Given the description of an element on the screen output the (x, y) to click on. 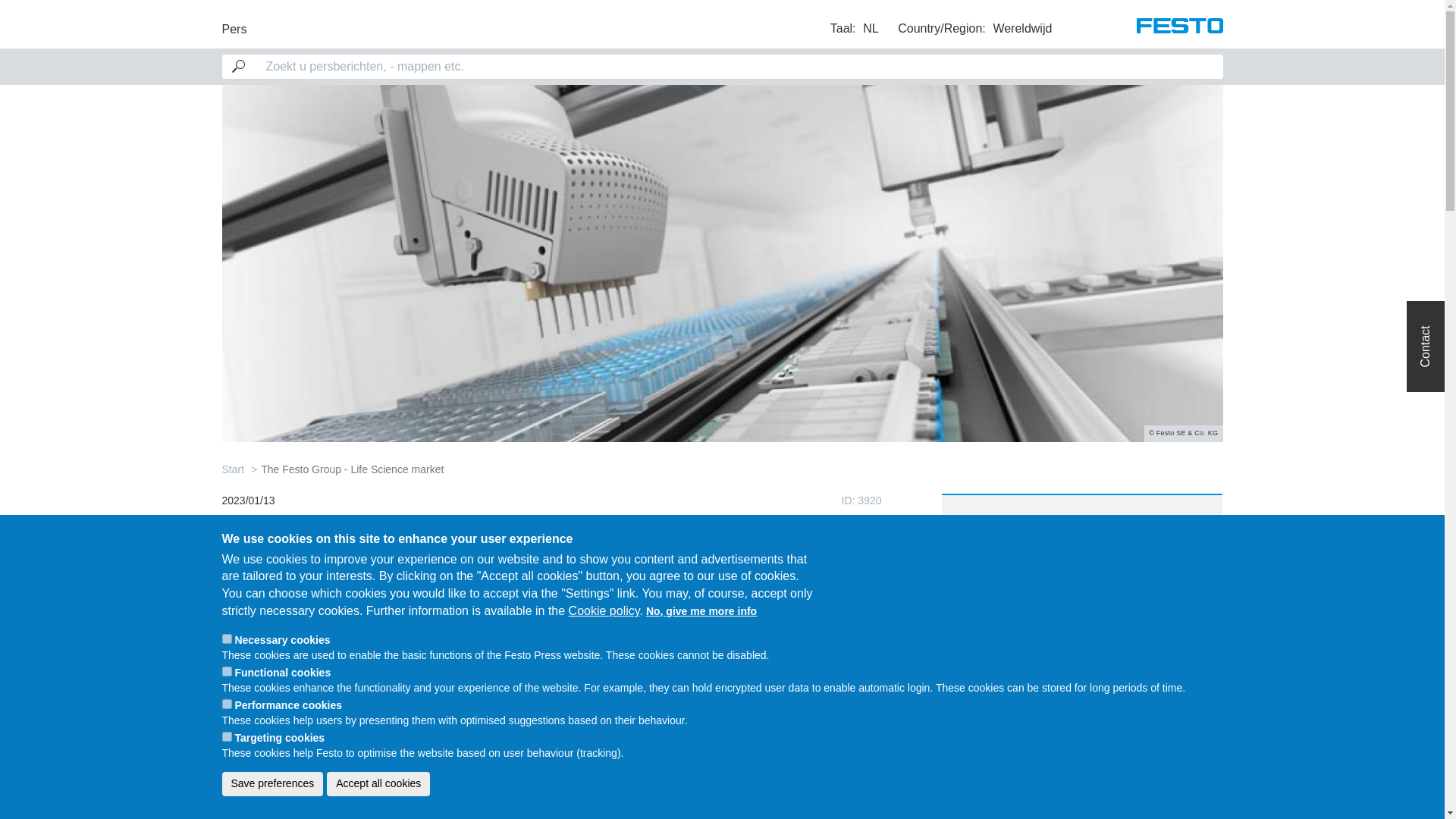
Start (232, 469)
Select a language (853, 28)
necessary (226, 638)
functional (226, 671)
Pers (233, 23)
performance (226, 704)
behavioral (226, 737)
Submit (29, 14)
